Given the description of an element on the screen output the (x, y) to click on. 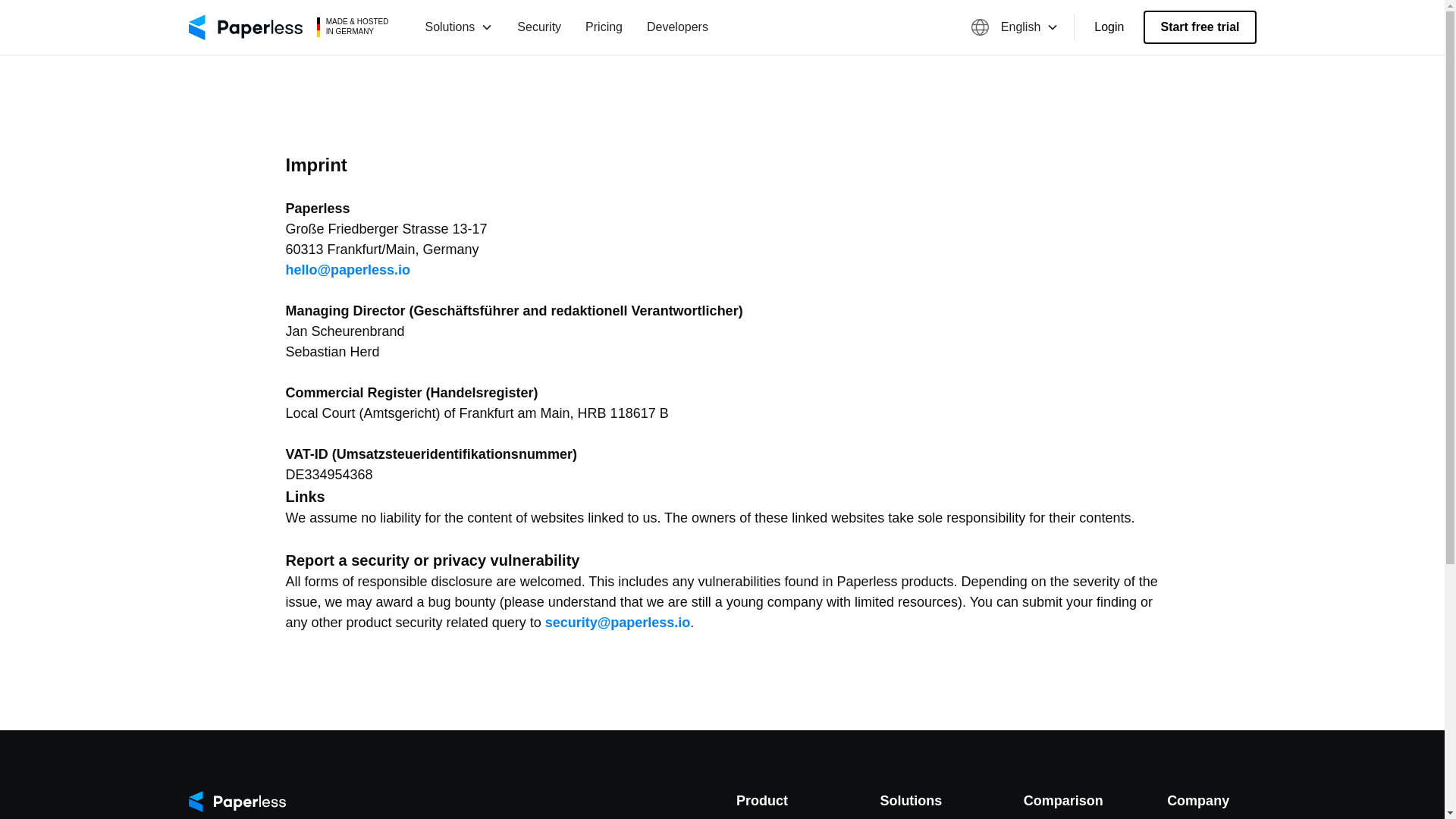
Developers (677, 27)
Login (1108, 27)
Start free trial (1198, 27)
Pricing (603, 27)
Security (539, 27)
